Given the description of an element on the screen output the (x, y) to click on. 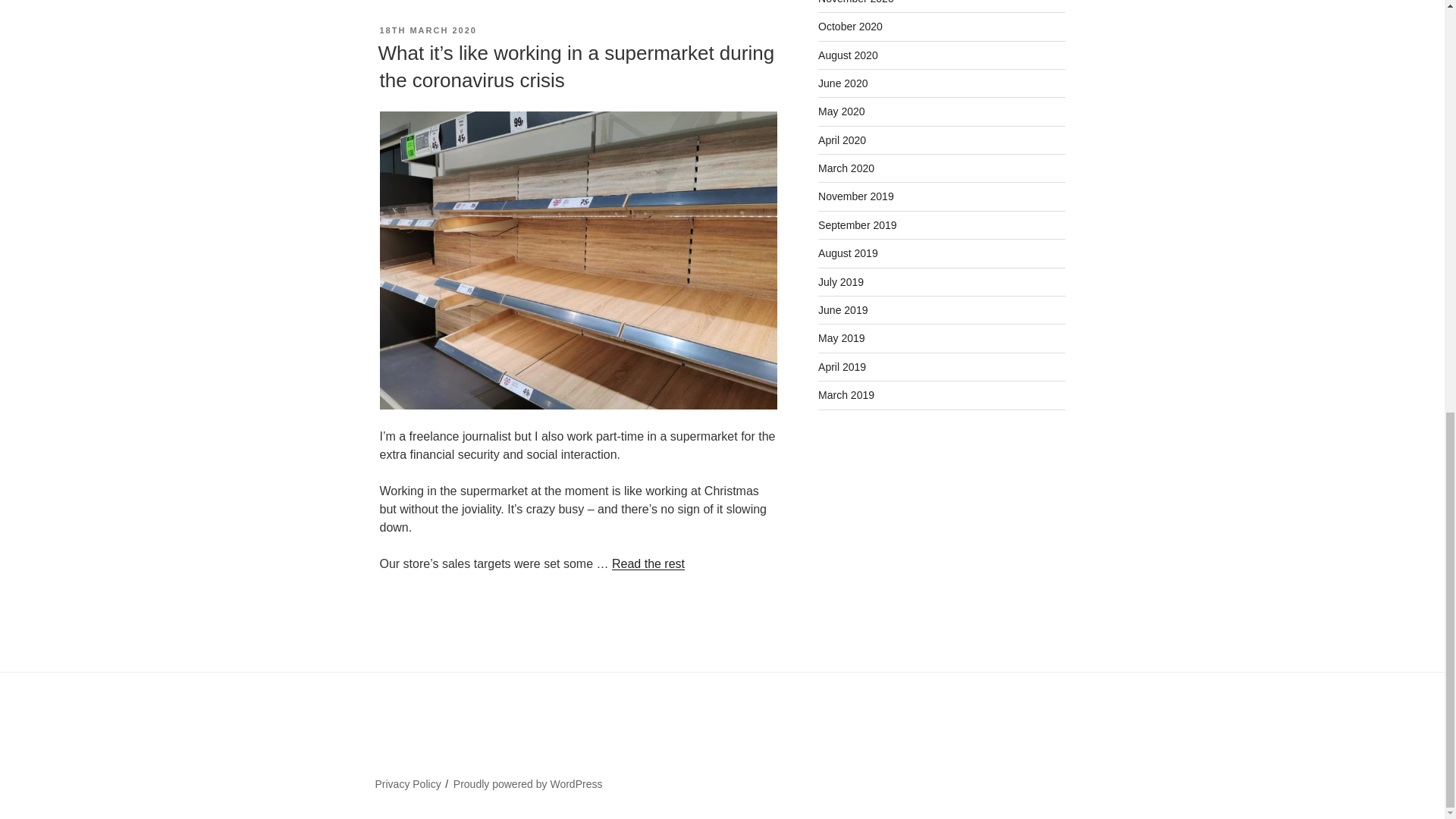
April 2020 (842, 140)
June 2019 (842, 309)
October 2020 (850, 26)
18TH MARCH 2020 (427, 30)
Read the rest (647, 563)
July 2019 (840, 282)
June 2020 (842, 82)
November 2019 (855, 196)
May 2019 (841, 337)
August 2020 (847, 55)
